Given the description of an element on the screen output the (x, y) to click on. 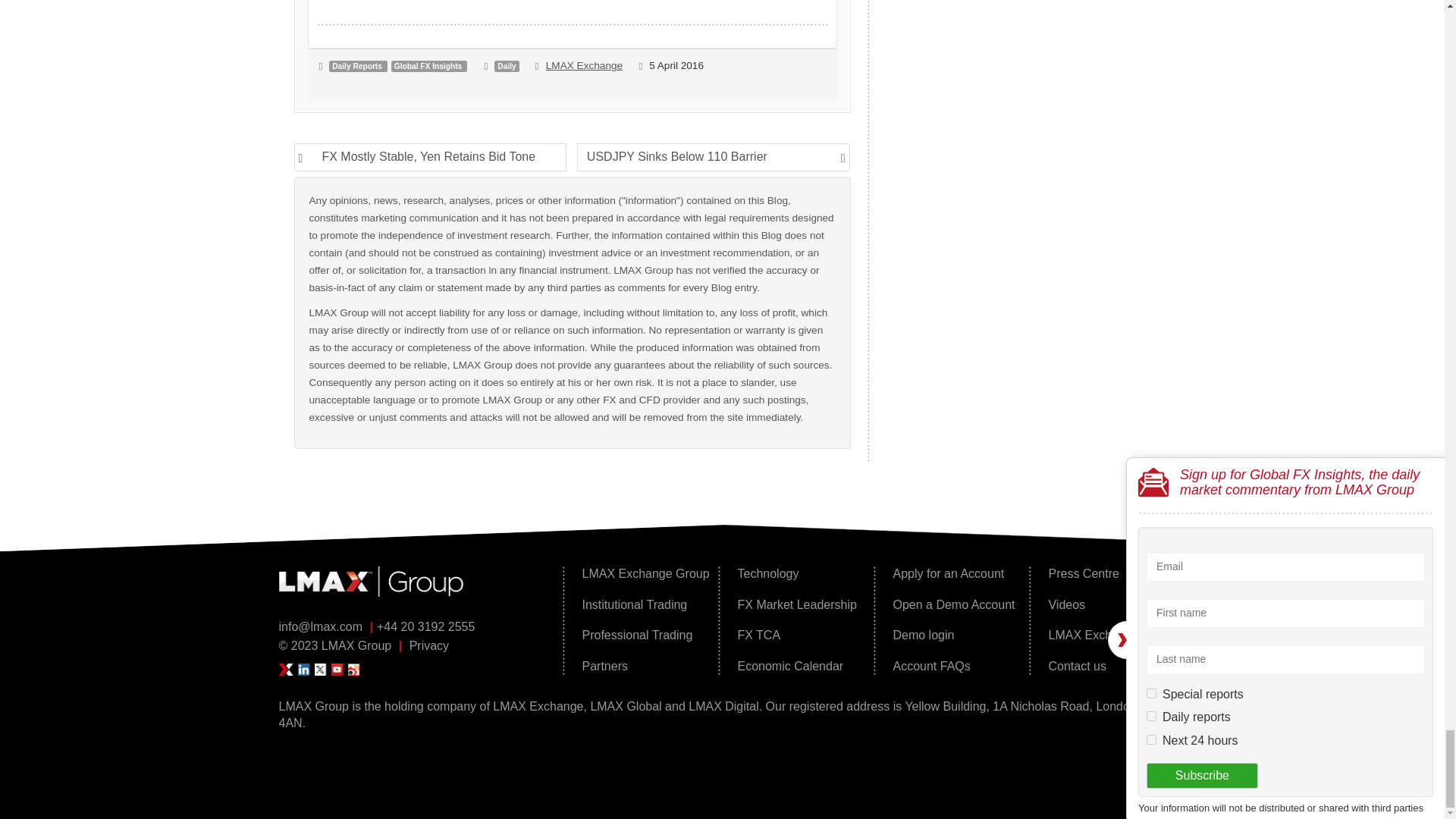
LMAX Exchange (584, 65)
